Given the description of an element on the screen output the (x, y) to click on. 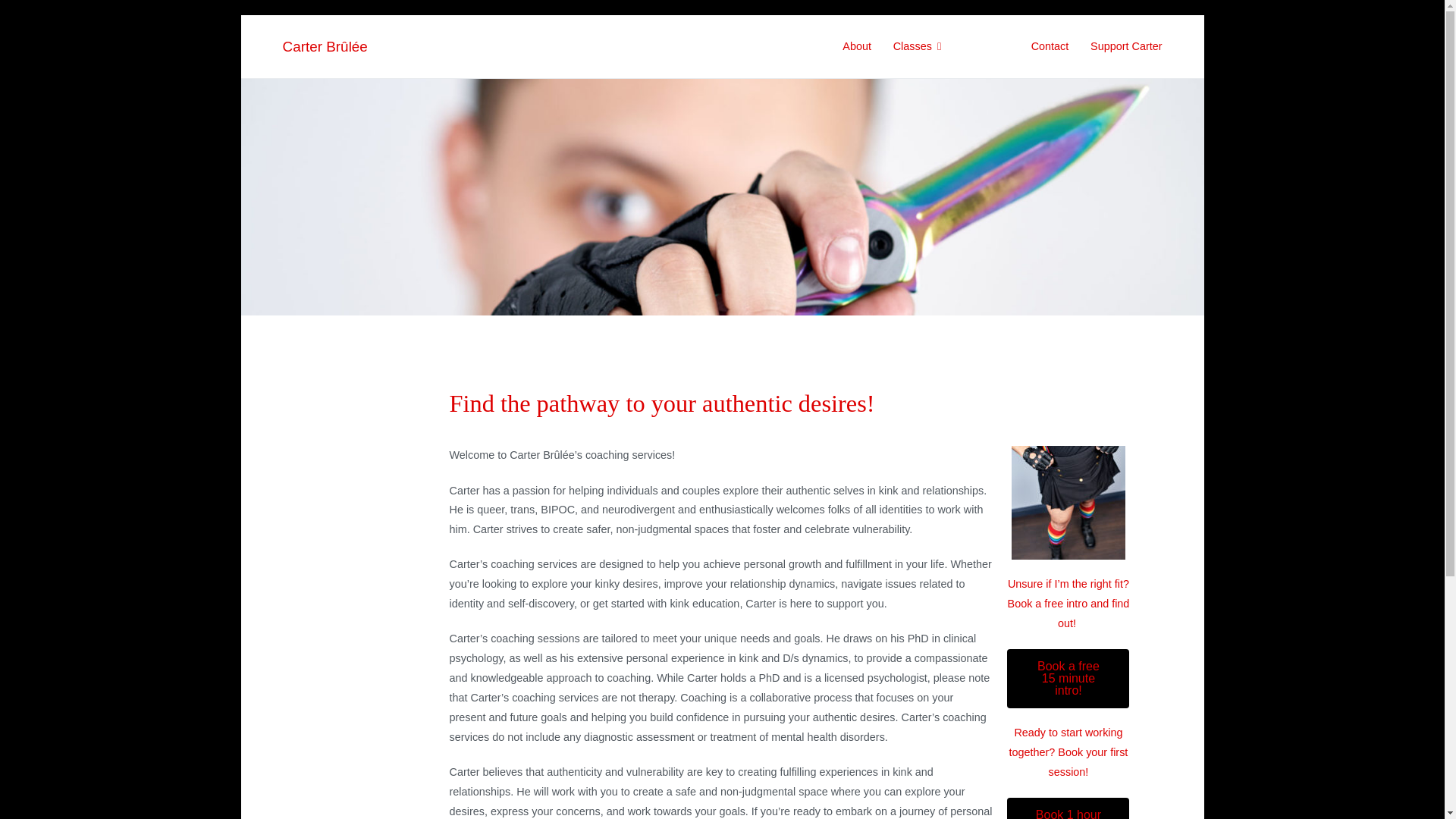
Coaching (985, 46)
Contact (1049, 46)
Classes (917, 46)
Support Carter (1125, 46)
About (856, 46)
Book a free 15 minute intro! (1068, 678)
Book 1 hour paid session (1068, 808)
